Given the description of an element on the screen output the (x, y) to click on. 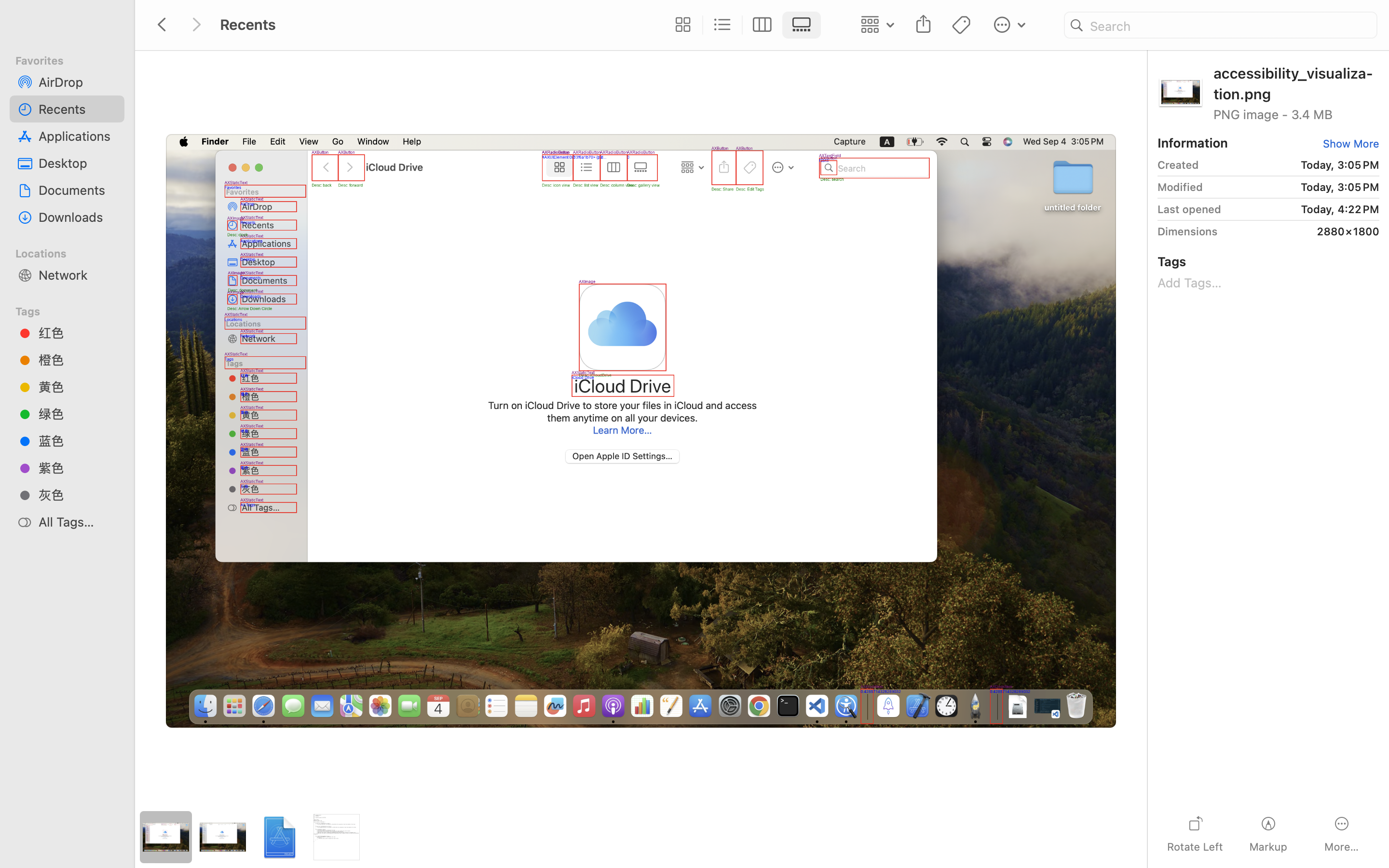
Information Element type: AXStaticText (1192, 142)
accessibility_visualization.png Element type: AXStaticText (1296, 82)
Tags Element type: AXStaticText (72, 309)
Dimensions Element type: AXStaticText (1187, 231)
Network Element type: AXStaticText (77, 274)
